Given the description of an element on the screen output the (x, y) to click on. 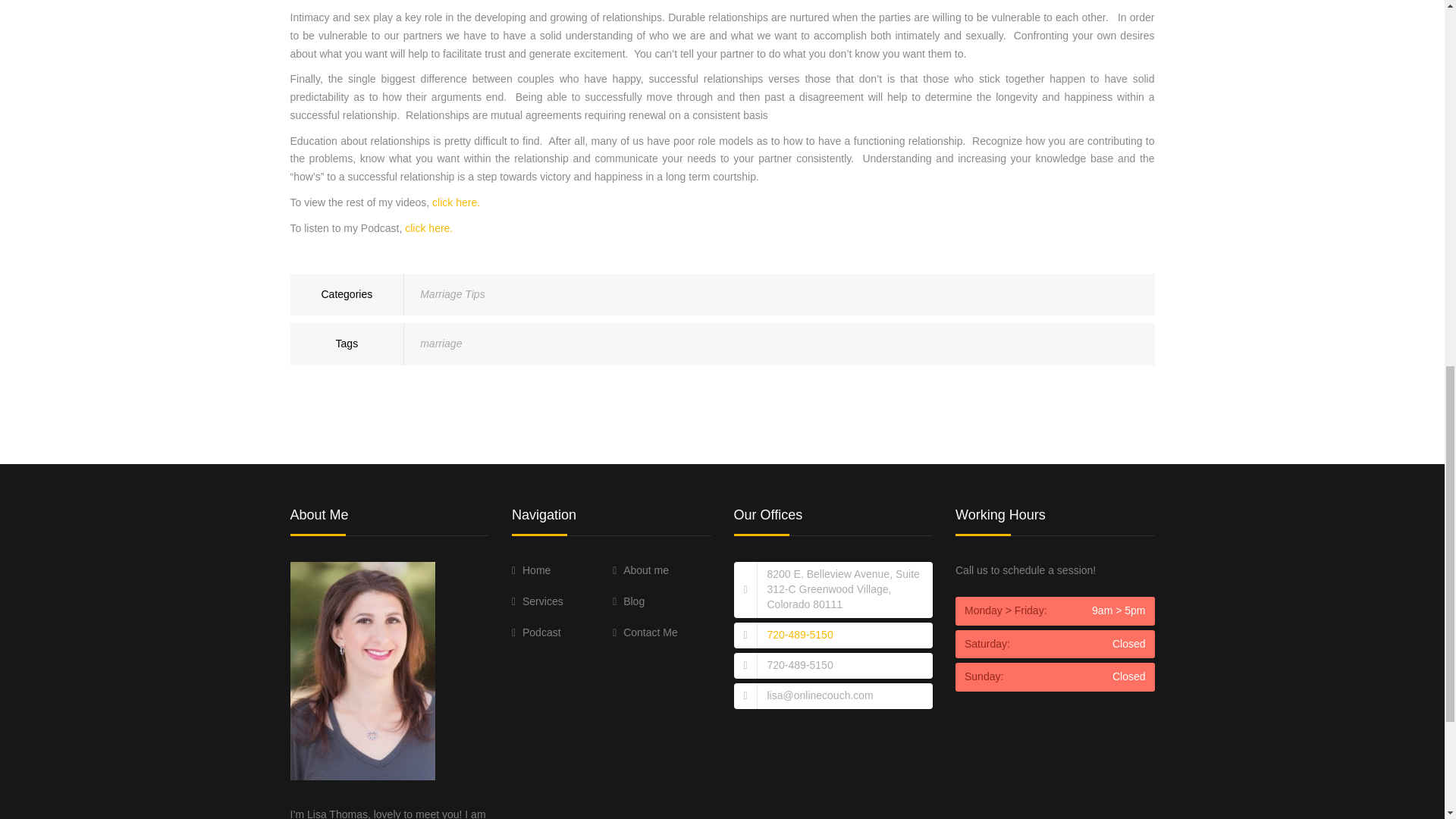
marriage (440, 343)
Contact Me (645, 632)
Blog (628, 601)
Services (537, 601)
About me (640, 570)
click here. (456, 202)
Home (531, 570)
Podcast (536, 632)
click here. (428, 227)
Marriage Tips (452, 294)
